Given the description of an element on the screen output the (x, y) to click on. 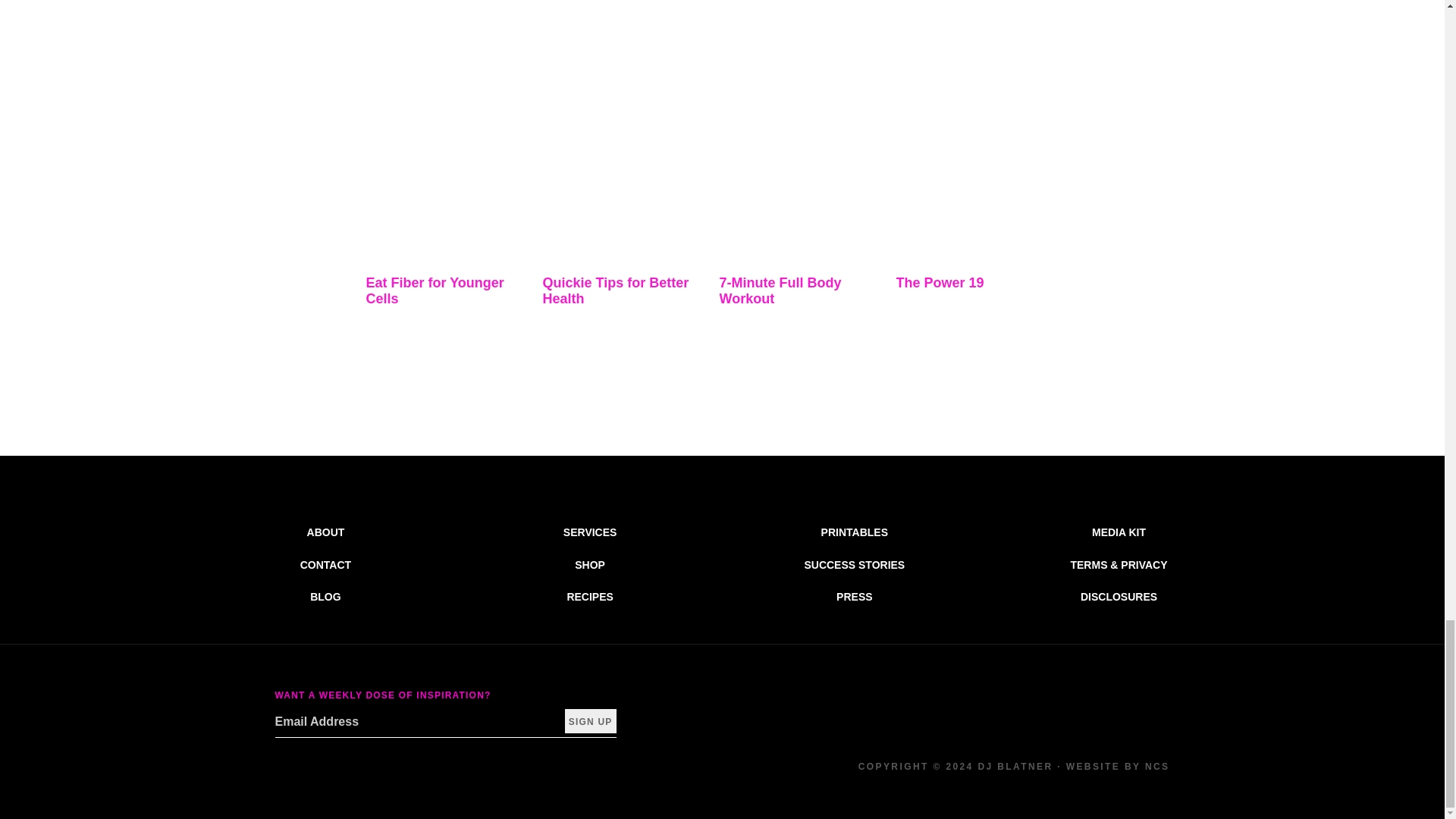
Sign up (589, 721)
